Given the description of an element on the screen output the (x, y) to click on. 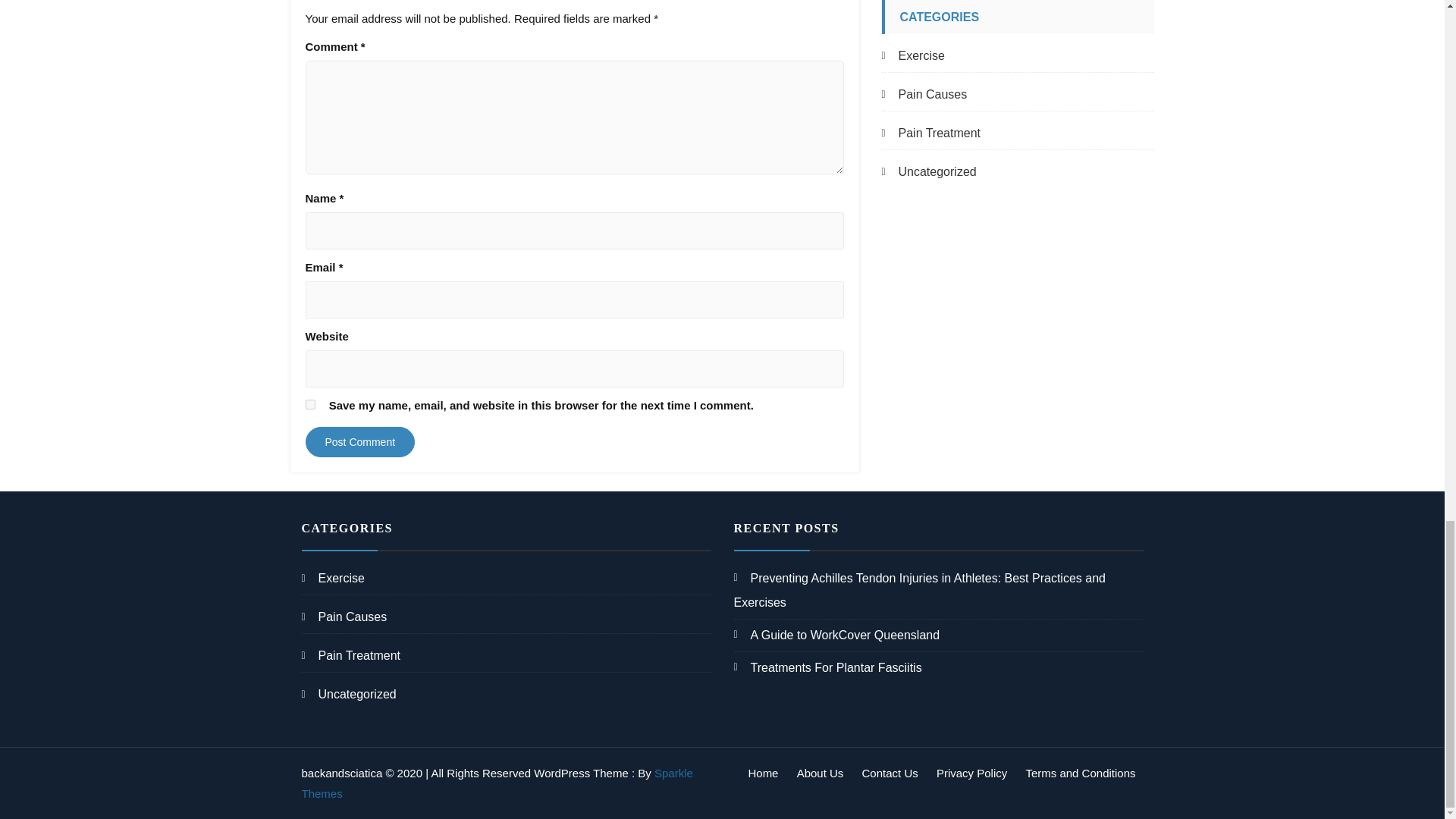
Exercise (333, 578)
Uncategorized (927, 171)
Post Comment (359, 441)
Exercise (911, 55)
Post Comment (359, 441)
Pain Treatment (929, 133)
Pain Causes (923, 94)
yes (309, 404)
